Given the description of an element on the screen output the (x, y) to click on. 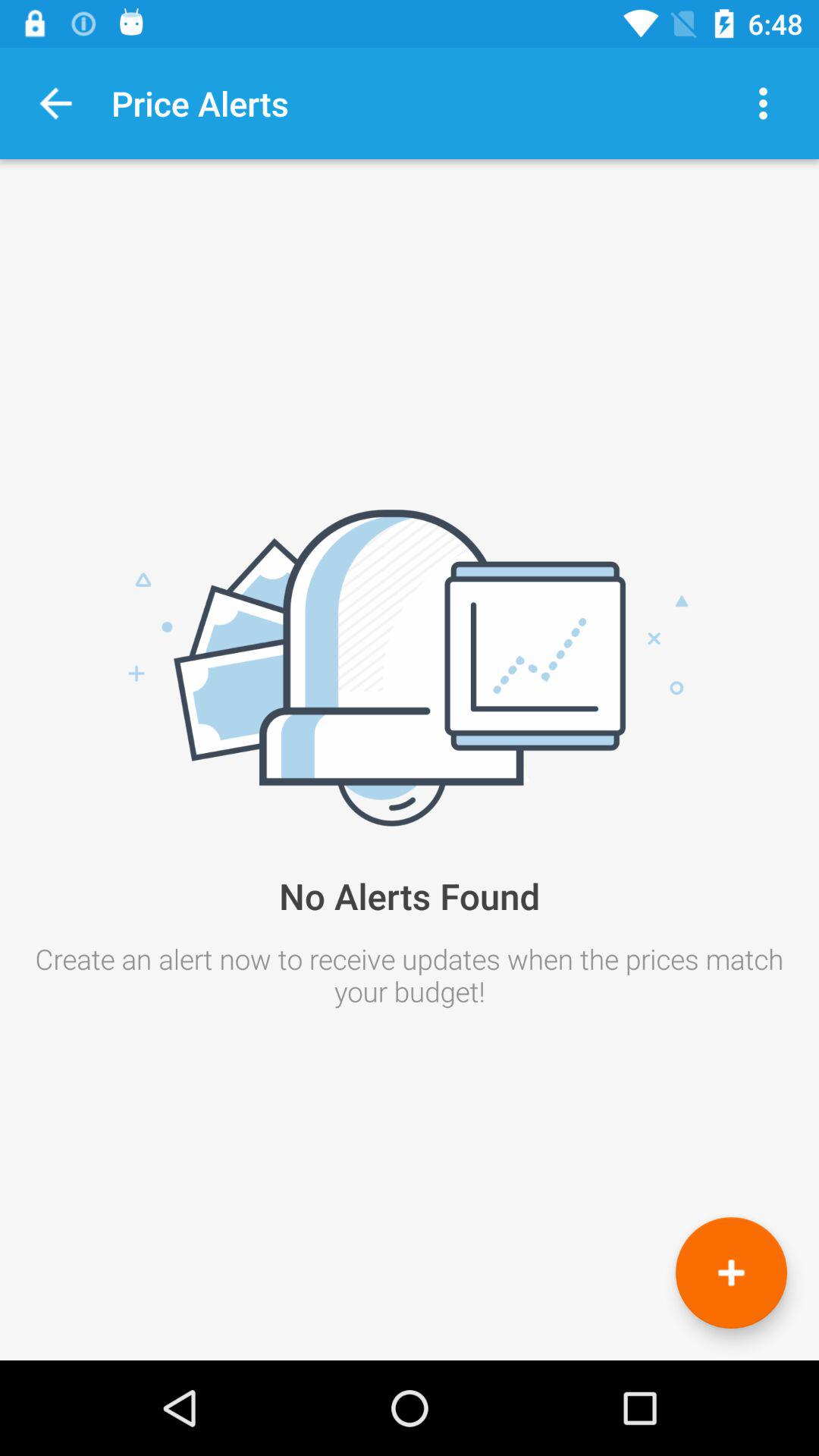
add an alert (731, 1272)
